Given the description of an element on the screen output the (x, y) to click on. 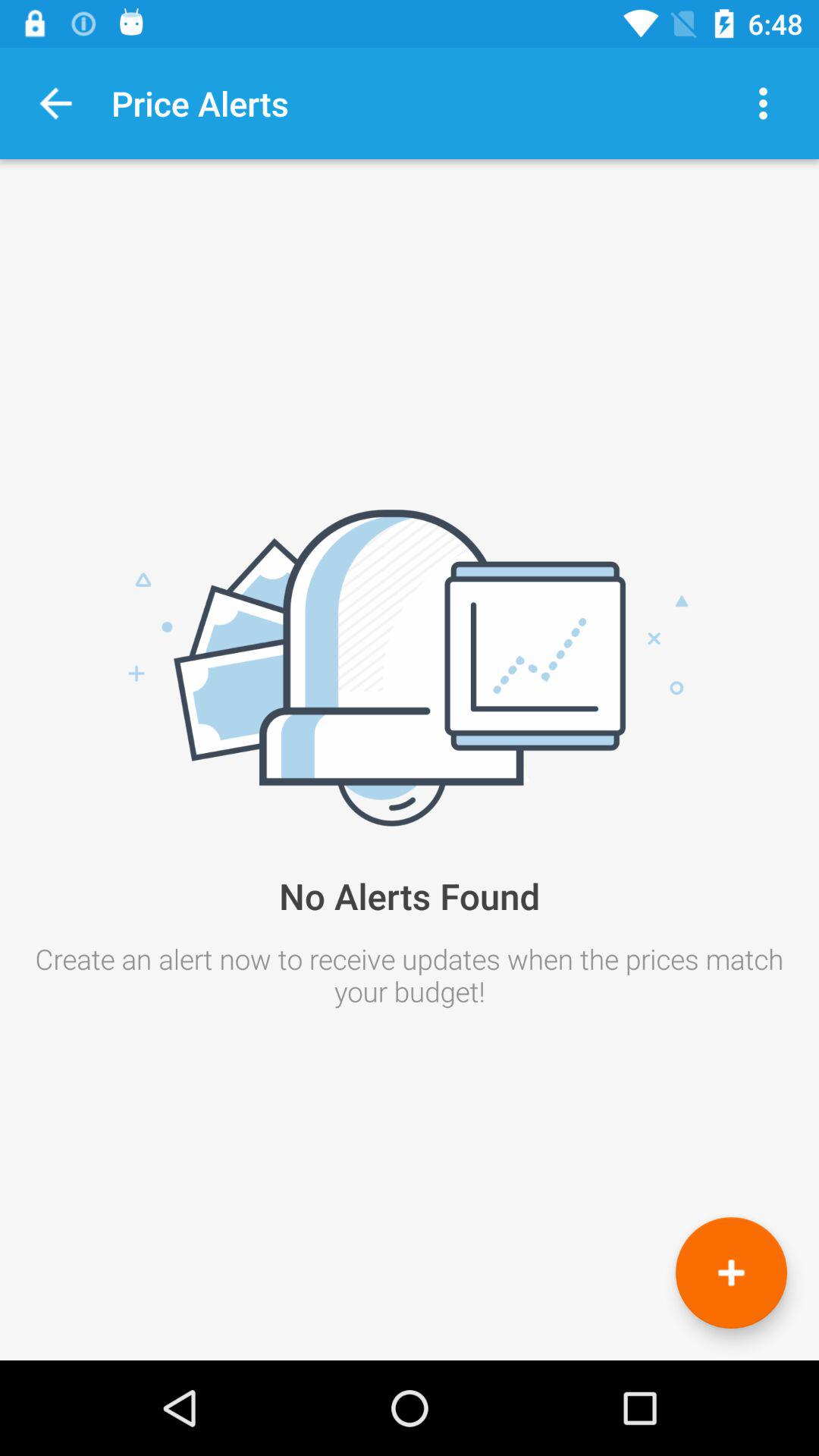
add an alert (731, 1272)
